Given the description of an element on the screen output the (x, y) to click on. 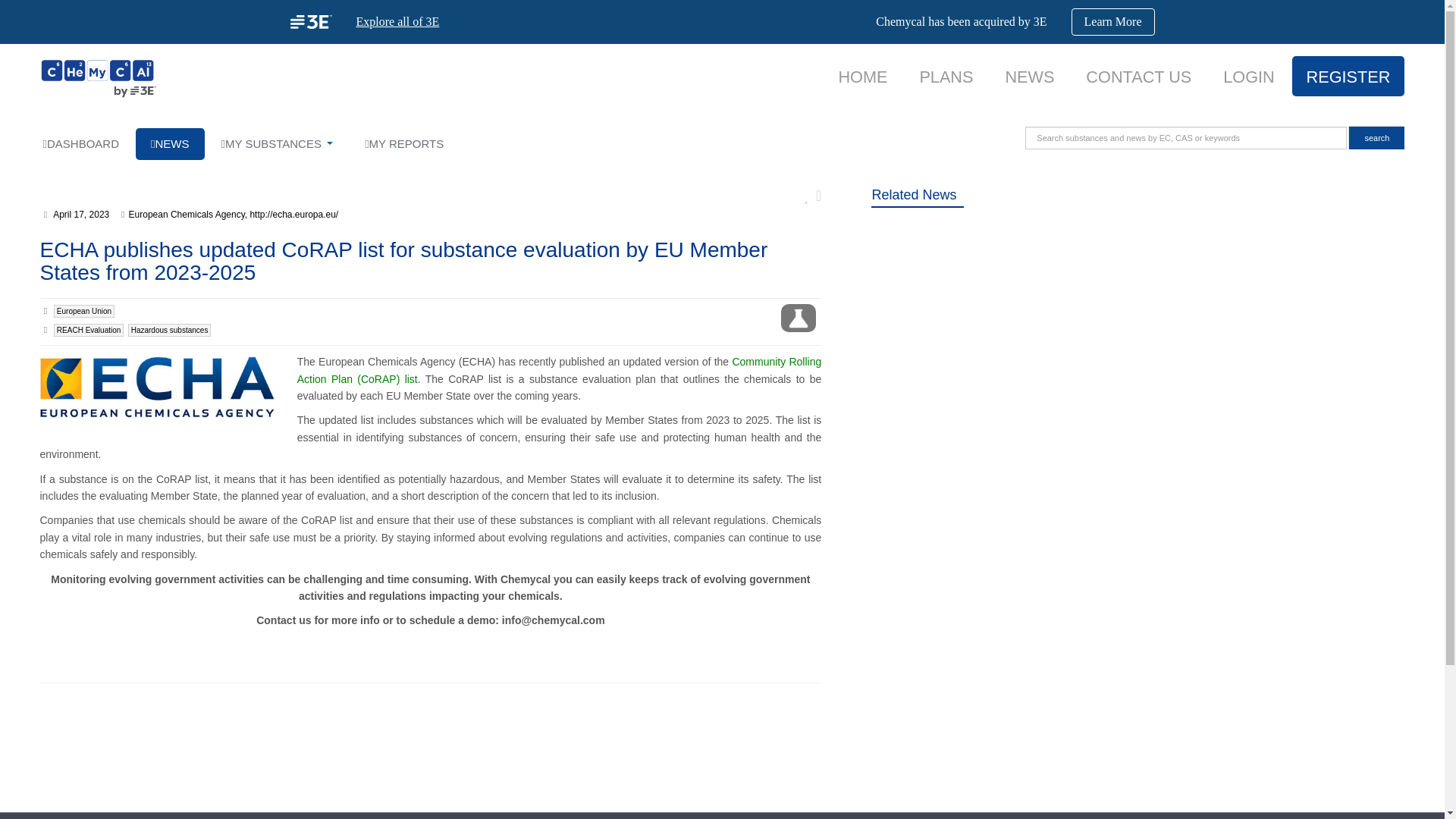
REGISTER (1348, 76)
LOGIN (1249, 76)
DASHBOARD (80, 143)
Explore all of 3E (397, 21)
MY SUBSTANCES (277, 143)
European Union (84, 310)
PLANS (945, 76)
NEWS (1029, 76)
CONTACT US (1138, 76)
MY REPORTS (403, 143)
